Given the description of an element on the screen output the (x, y) to click on. 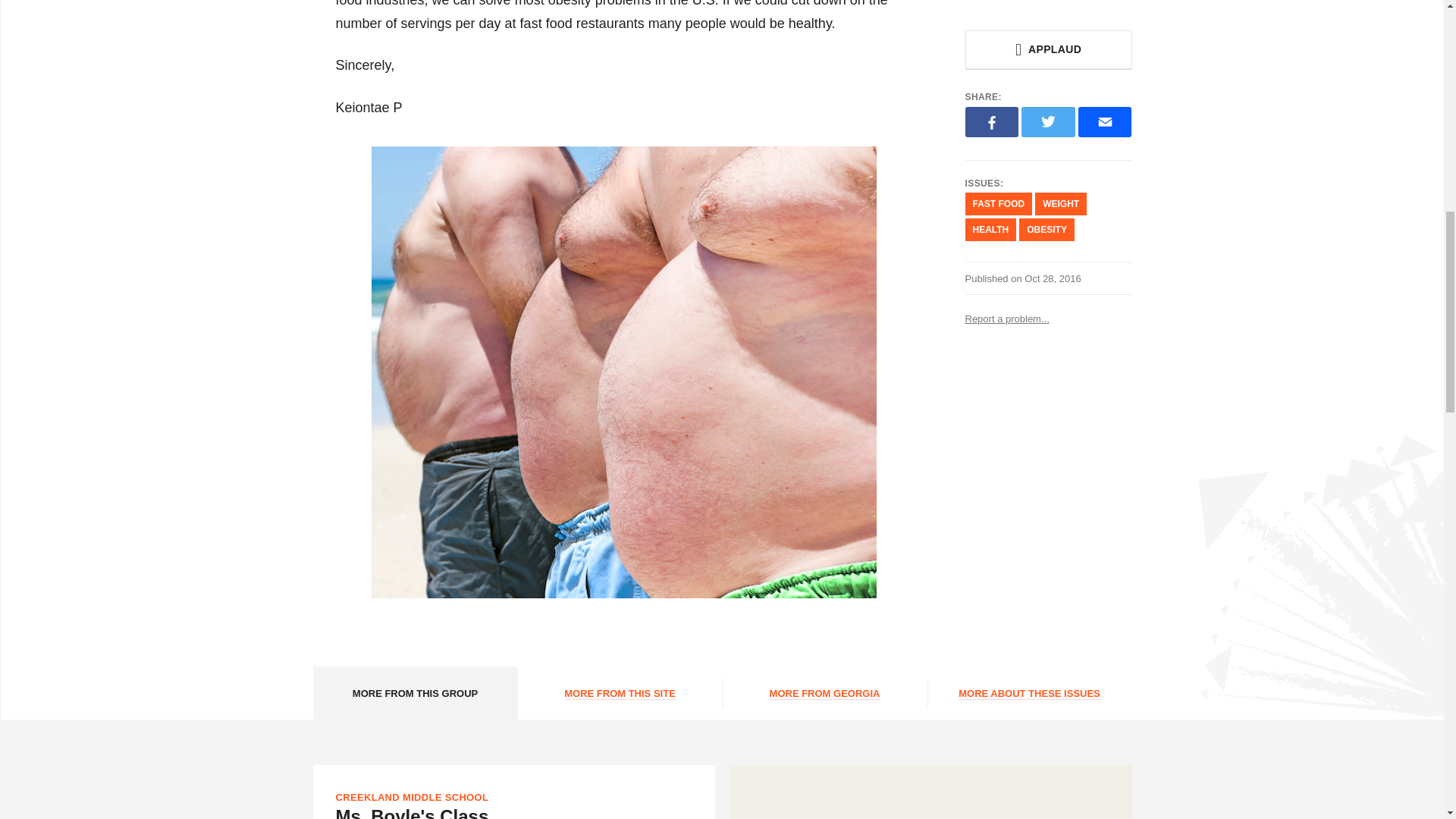
MORE FROM THIS SITE (619, 692)
MORE FROM THIS GROUP (414, 692)
CREEKLAND MIDDLE SCHOOL (410, 797)
MORE FROM GEORGIA (824, 692)
MORE ABOUT THESE ISSUES (1028, 692)
